Given the description of an element on the screen output the (x, y) to click on. 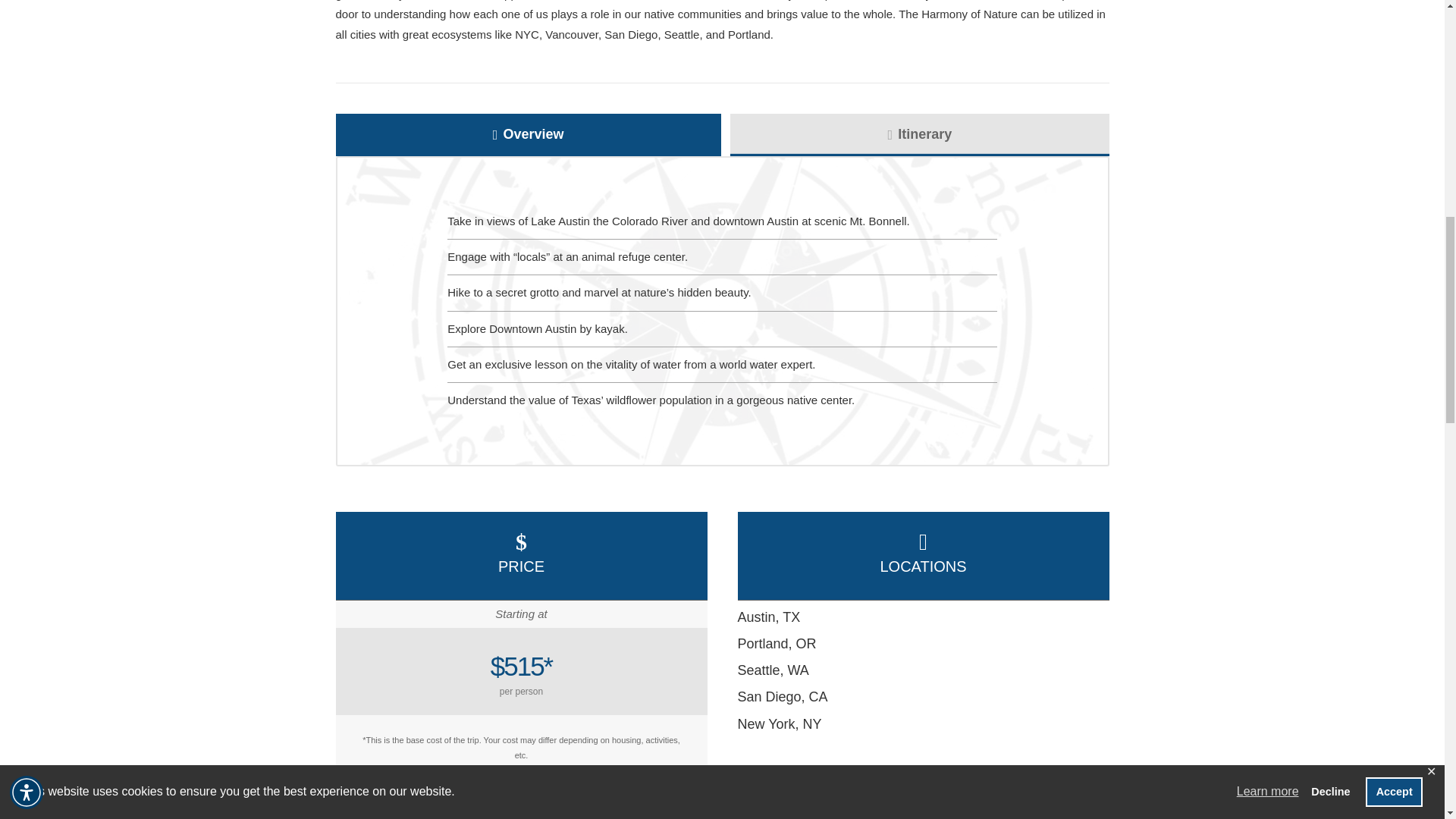
Click Here (520, 803)
